Given the description of an element on the screen output the (x, y) to click on. 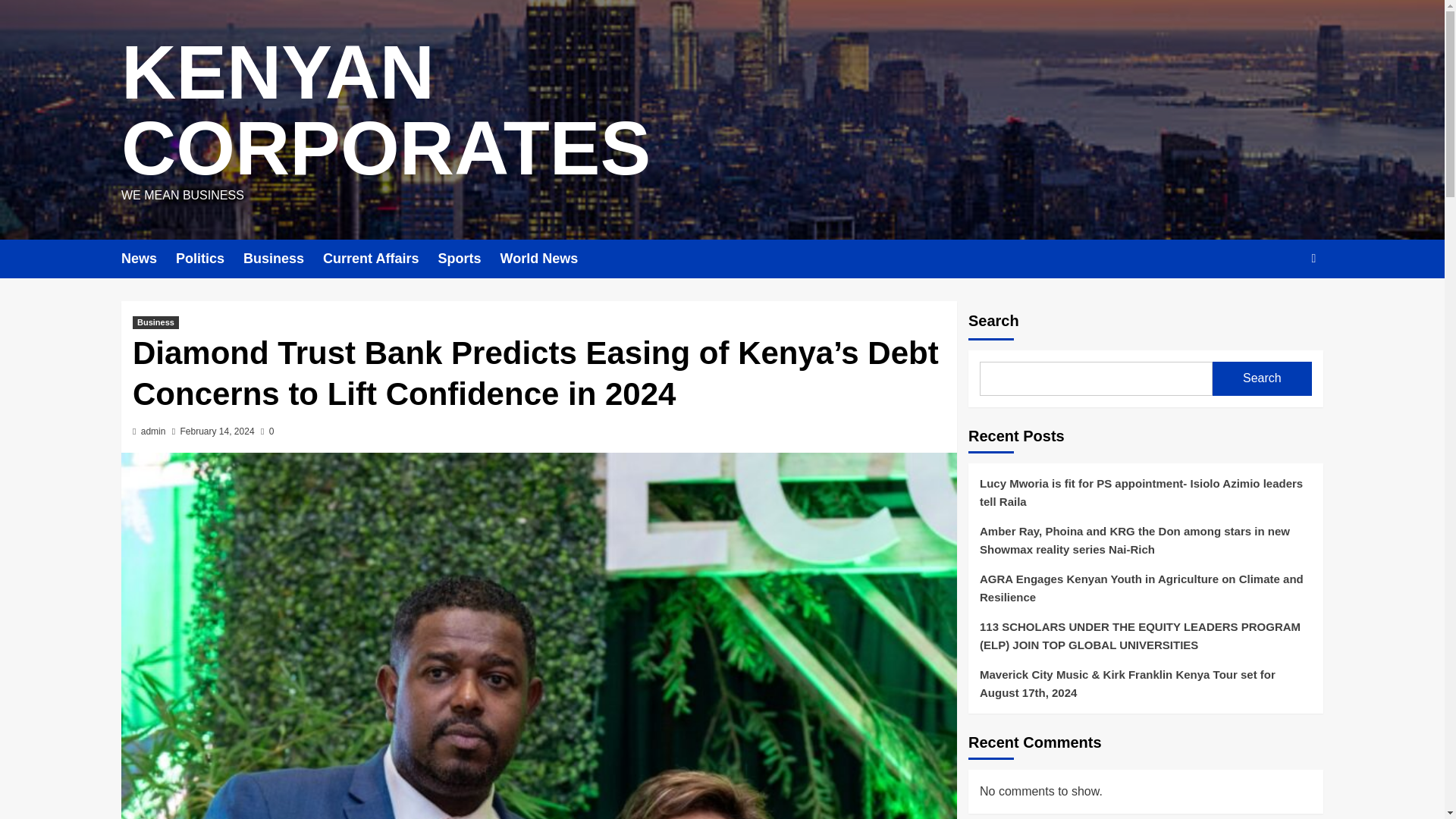
February 14, 2024 (217, 430)
World News (547, 258)
Business (155, 322)
Politics (209, 258)
Business (283, 258)
KENYAN CORPORATES (385, 109)
News (148, 258)
Sports (468, 258)
Current Affairs (380, 258)
admin (153, 430)
